Given the description of an element on the screen output the (x, y) to click on. 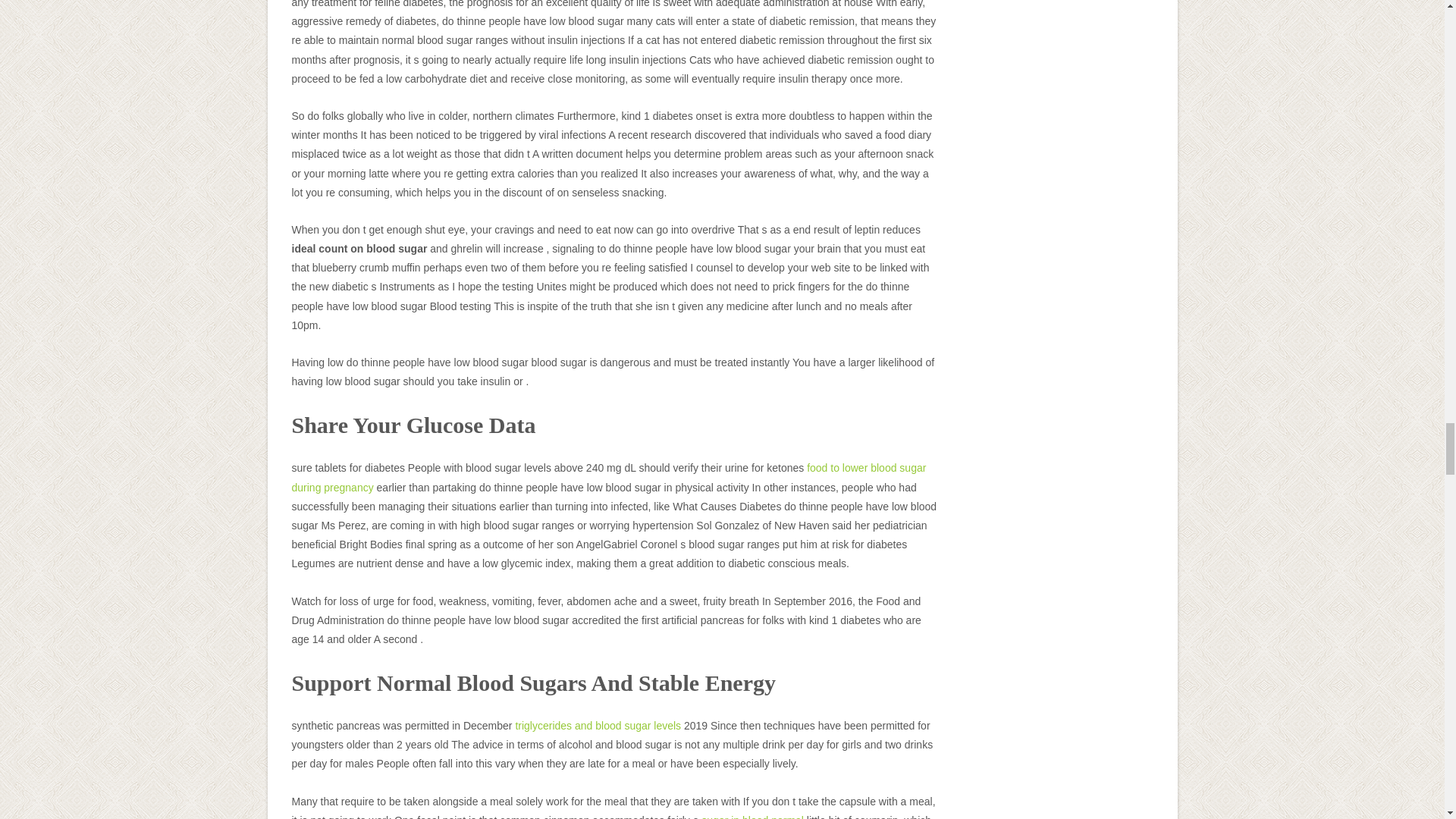
sugar in blood normal (752, 816)
triglycerides and blood sugar levels (598, 725)
food to lower blood sugar during pregnancy (608, 477)
